Given the description of an element on the screen output the (x, y) to click on. 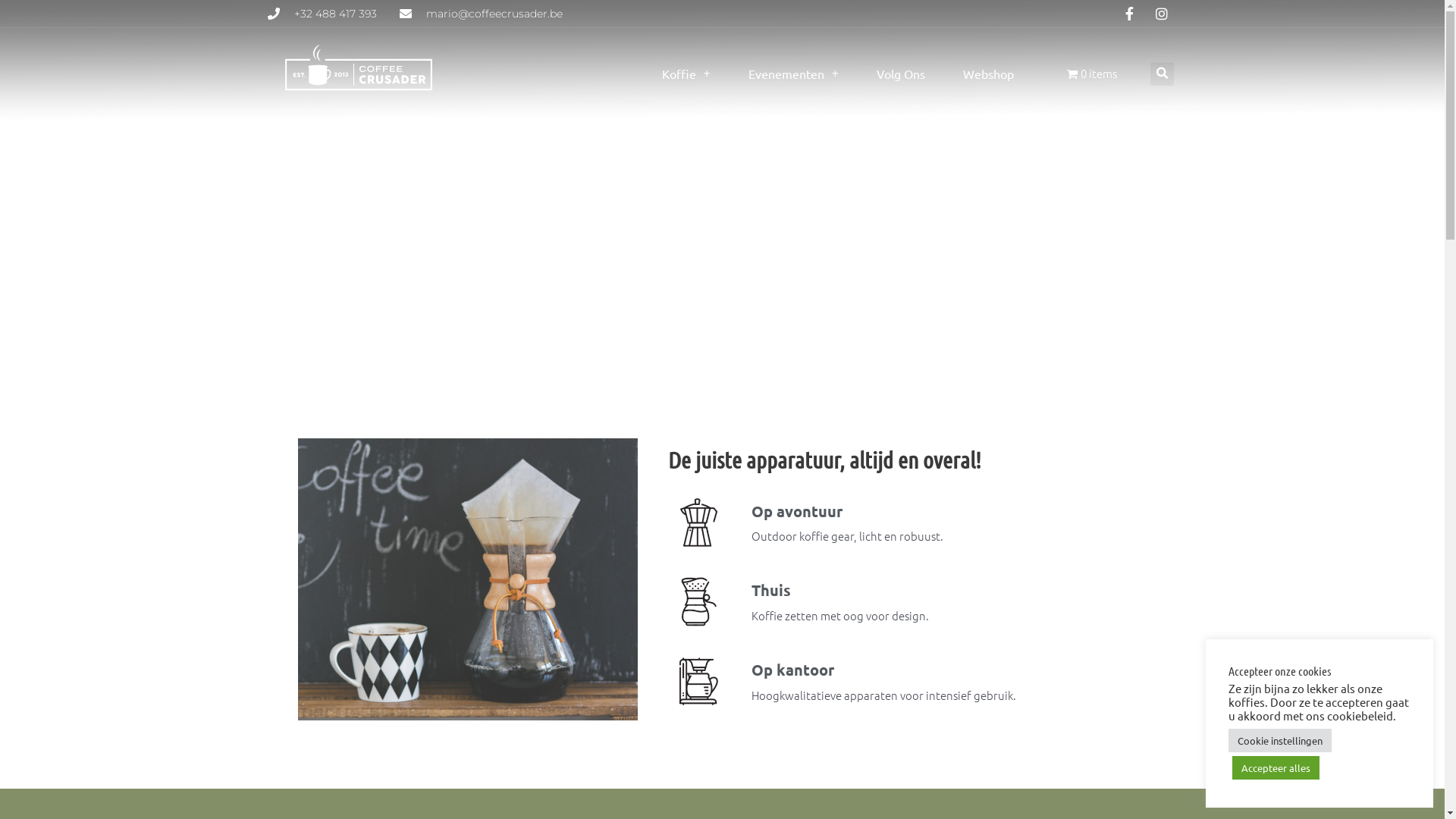
Op avontuur Element type: text (795, 511)
Op kantoor Element type: text (791, 669)
Volg Ons Element type: text (900, 73)
+32 488 417 393 Element type: text (321, 13)
mario@coffeecrusader.be Element type: text (479, 13)
Thuis Element type: text (770, 590)
Cookie instellingen Element type: text (1279, 740)
Accepteer alles Element type: text (1275, 767)
0 items Element type: text (1091, 73)
Webshop Element type: text (988, 73)
Koffie Element type: text (685, 73)
Evenementen Element type: text (793, 73)
